Given the description of an element on the screen output the (x, y) to click on. 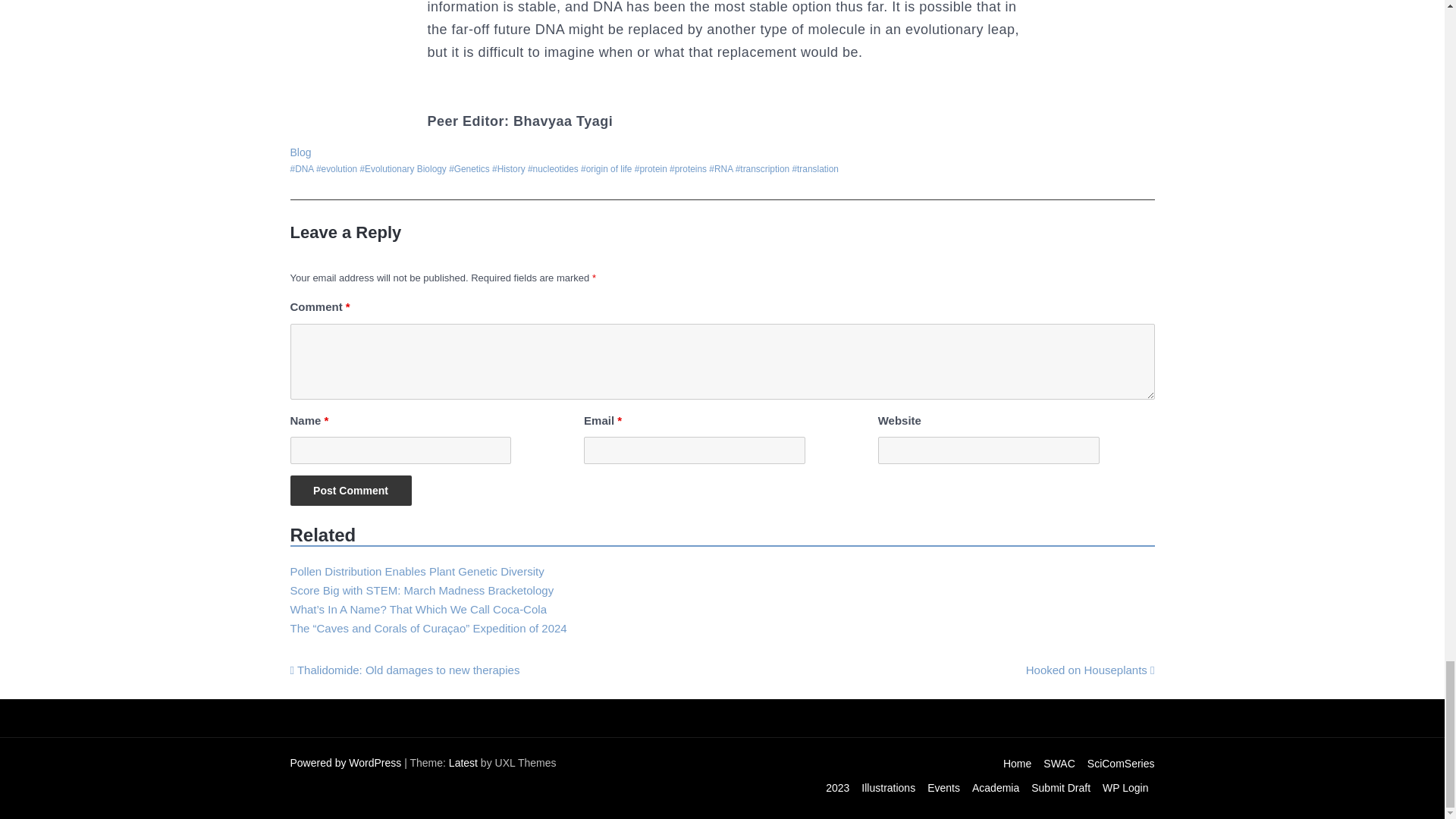
Post Comment (349, 490)
DNA (301, 168)
Blog (300, 152)
